Given the description of an element on the screen output the (x, y) to click on. 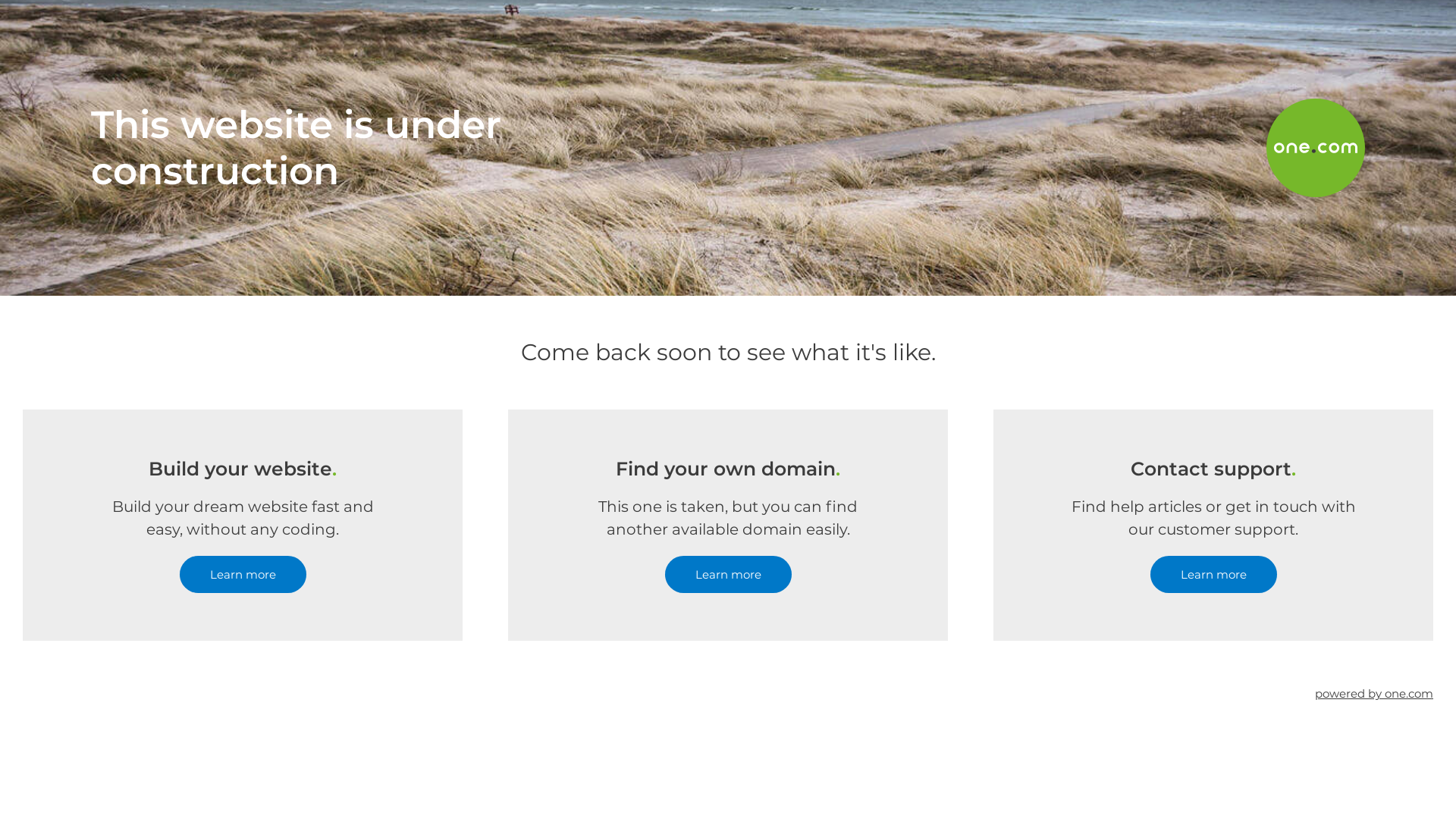
Learn more Element type: text (727, 574)
Learn more Element type: text (241, 574)
powered by one.com Element type: text (1373, 693)
Learn more Element type: text (1212, 574)
